Given the description of an element on the screen output the (x, y) to click on. 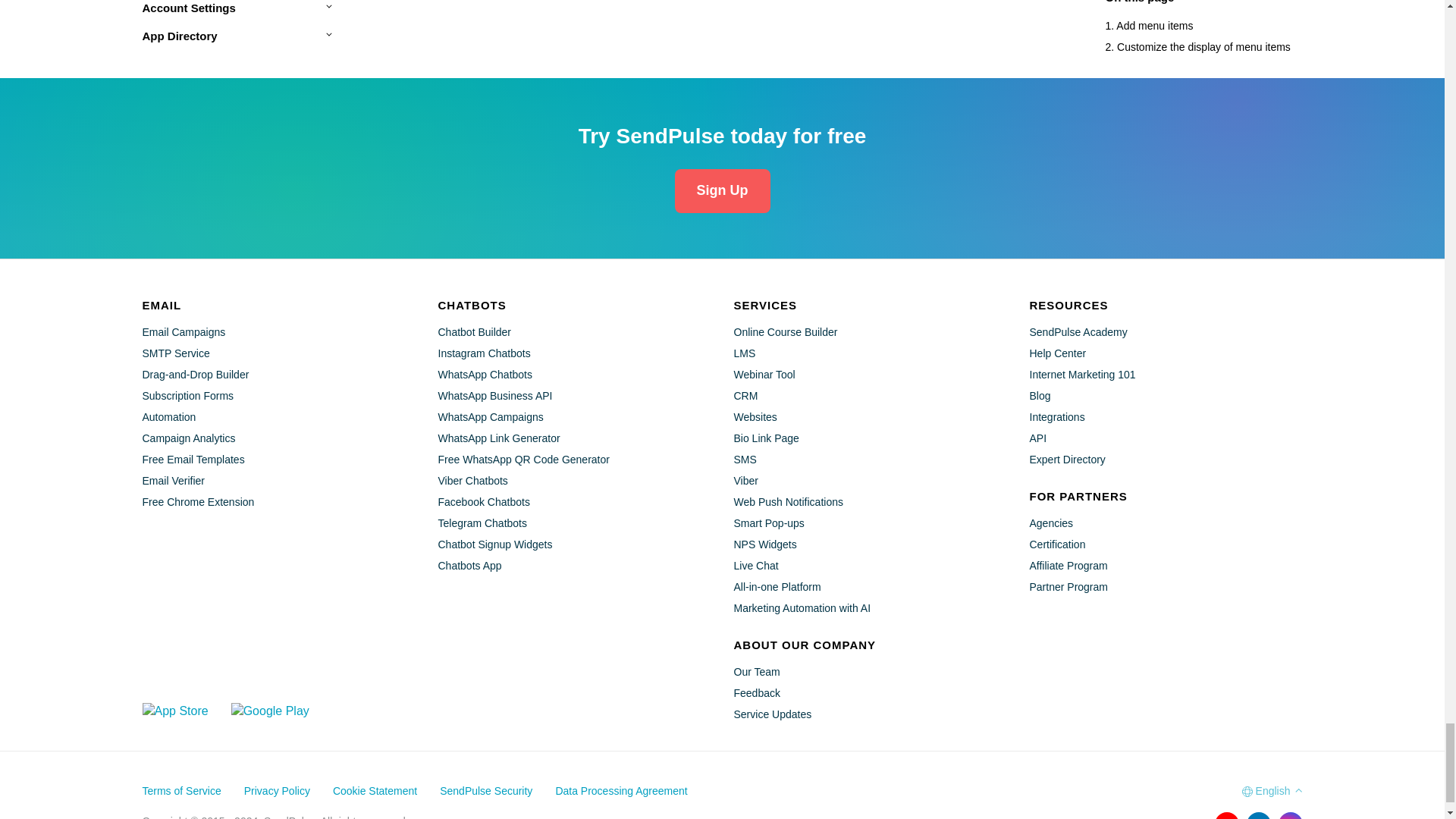
Watch us on YouTube (1226, 815)
Follow us on Instagram (1290, 815)
Connect with us on LinkedIn (1258, 815)
Follow us on Twitter (1194, 815)
Join us on Facebook (1162, 815)
